Given the description of an element on the screen output the (x, y) to click on. 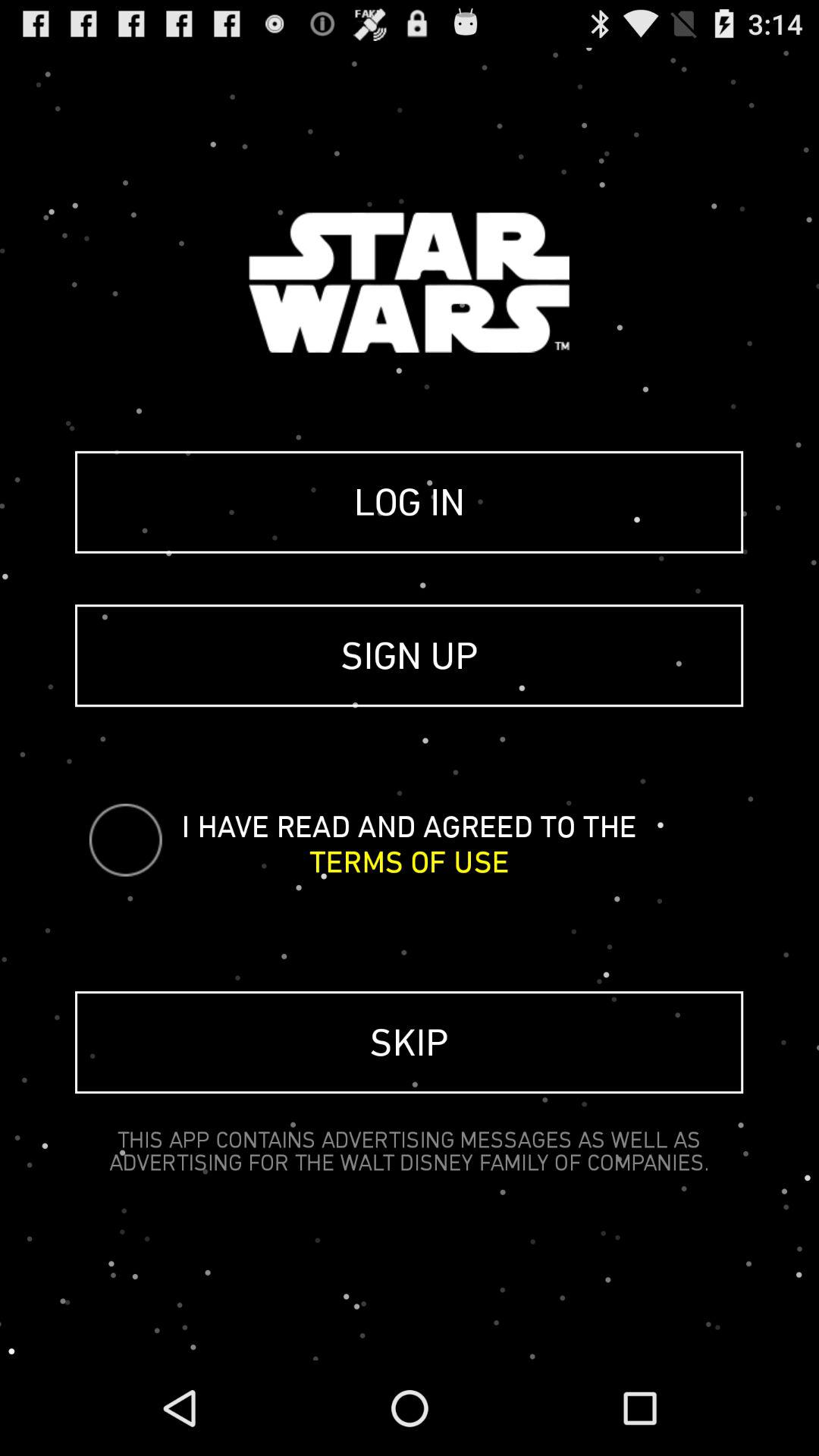
select item above skip button (409, 861)
